Given the description of an element on the screen output the (x, y) to click on. 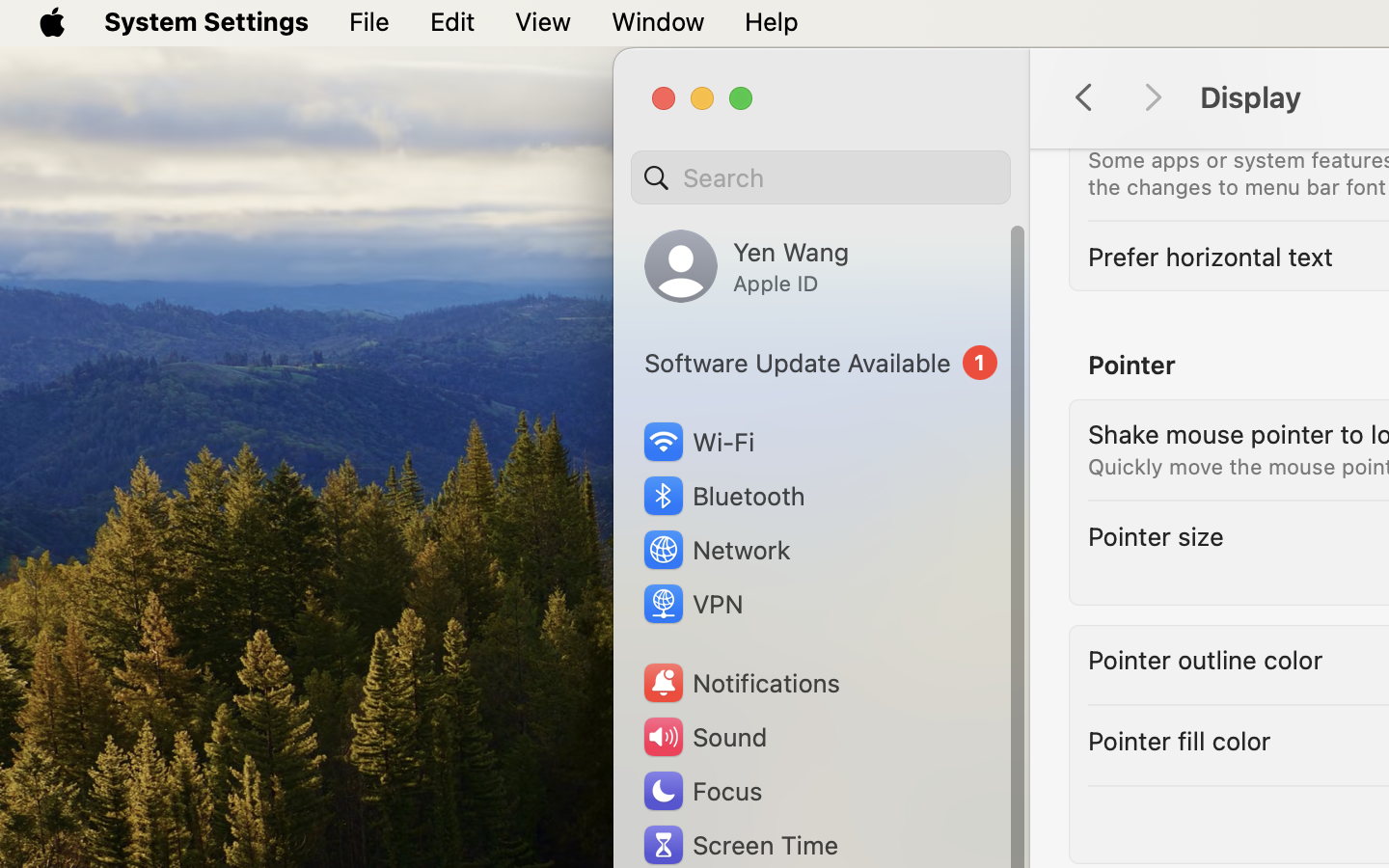
Yen Wang, Apple ID Element type: AXStaticText (746, 265)
Sound Element type: AXStaticText (703, 736)
Pointer fill color Element type: AXStaticText (1179, 740)
VPN Element type: AXStaticText (691, 603)
1 Element type: AXStaticText (820, 362)
